Given the description of an element on the screen output the (x, y) to click on. 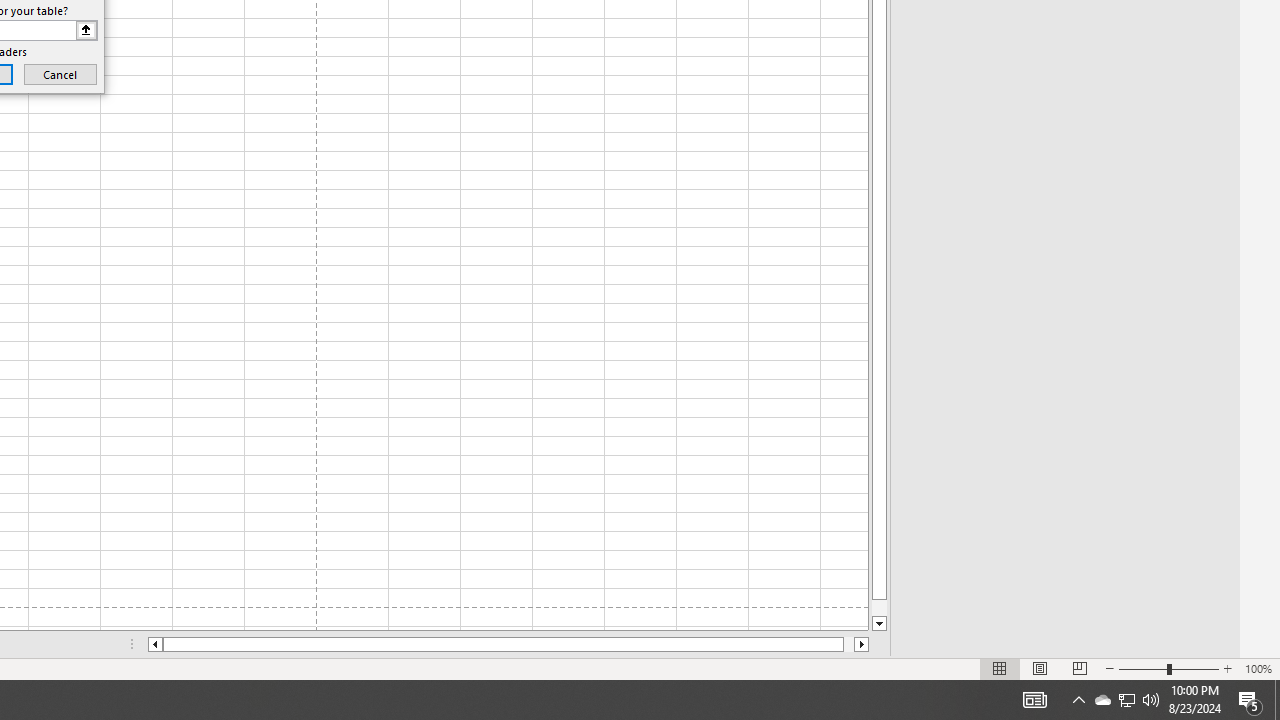
Page Layout (1039, 668)
Zoom (1168, 668)
Class: NetUIScrollBar (507, 644)
Line down (879, 624)
Zoom In (1227, 668)
Page Break Preview (1079, 668)
Column left (153, 644)
Column right (861, 644)
Page right (848, 644)
Normal (1000, 668)
Zoom Out (1142, 668)
Page down (879, 607)
